Given the description of an element on the screen output the (x, y) to click on. 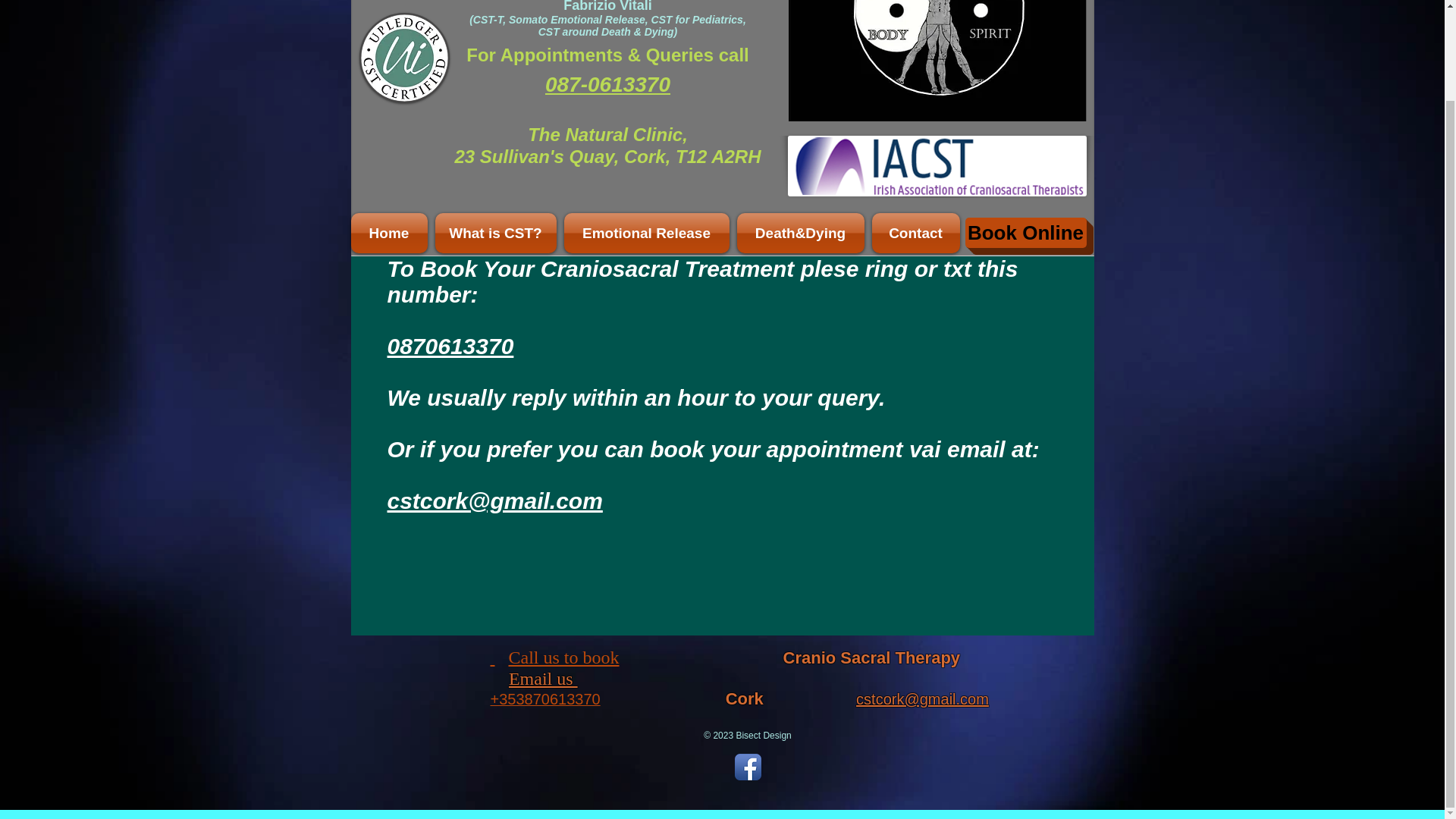
Contact (913, 232)
craniosacral therapy cork fabrizio vitali (404, 58)
Book Online (1024, 232)
What is CST? (494, 232)
087-0613370 (606, 84)
Home (390, 232)
0870613370 (450, 345)
Emotional Release (645, 232)
